Given the description of an element on the screen output the (x, y) to click on. 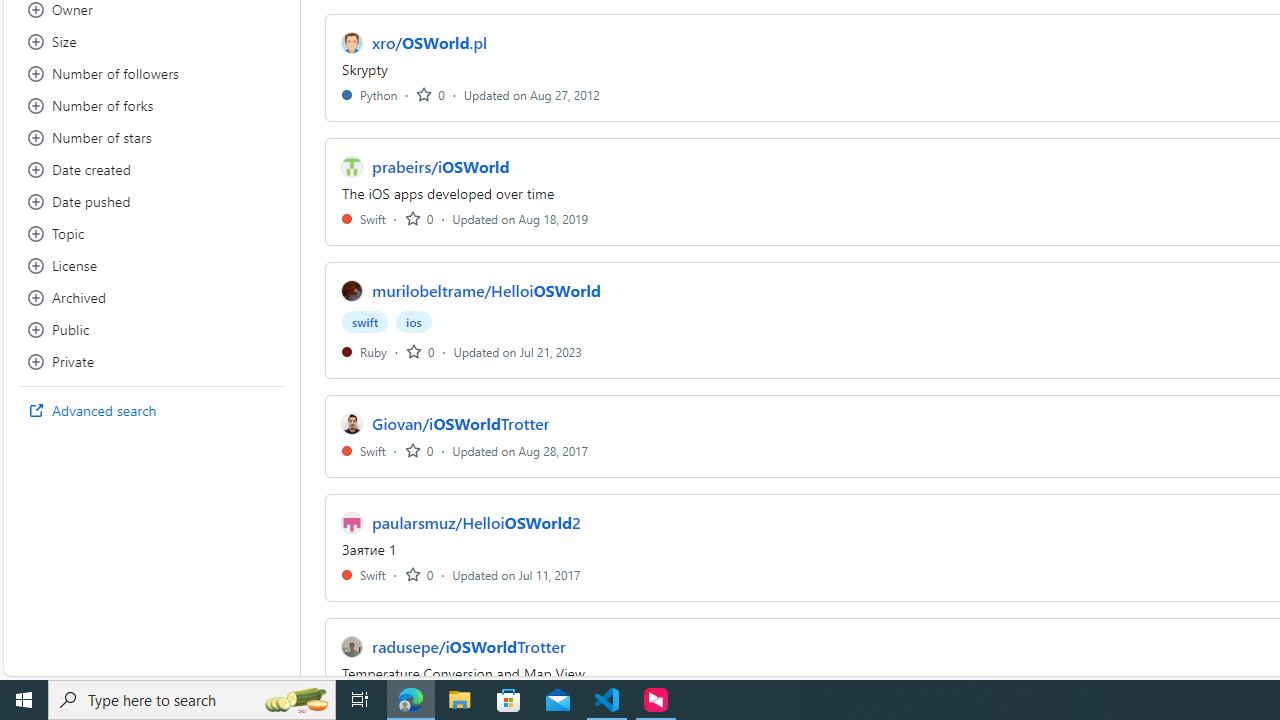
Updated on Aug 18, 2019 (519, 218)
Advanced search (152, 410)
Python (369, 93)
Ruby (363, 351)
